Given the description of an element on the screen output the (x, y) to click on. 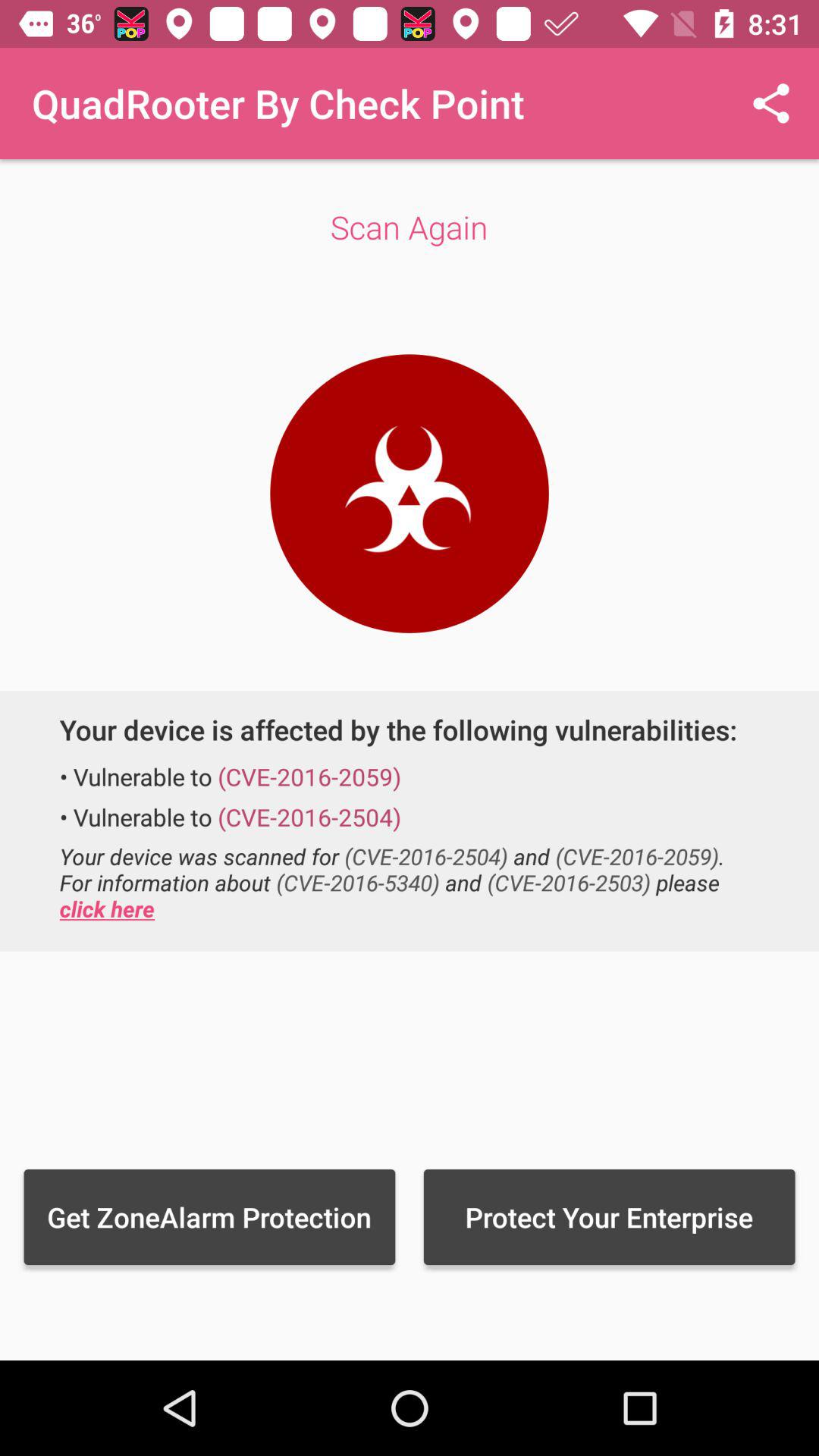
press item at the top right corner (771, 103)
